Given the description of an element on the screen output the (x, y) to click on. 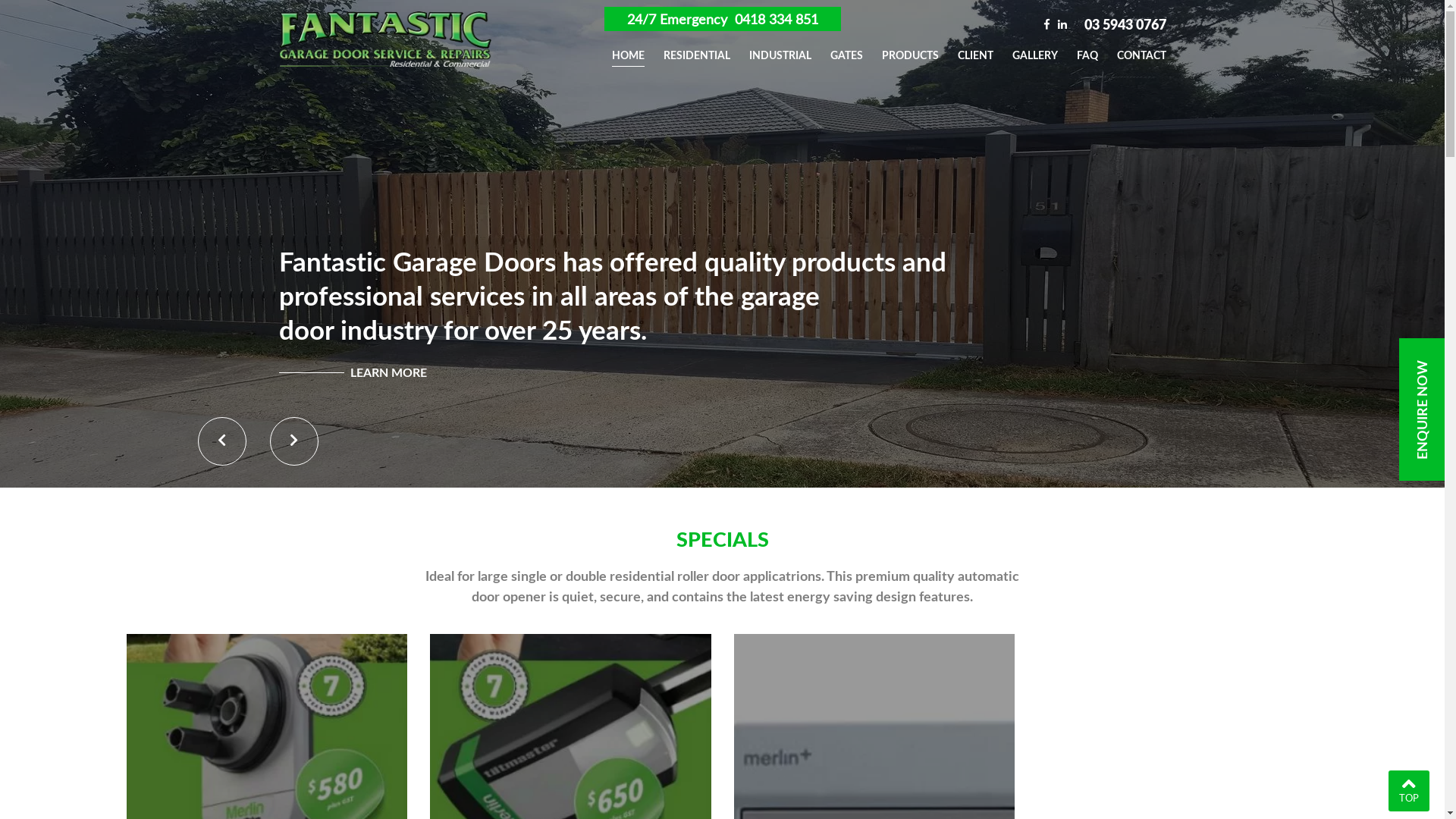
HOME Element type: text (627, 51)
PRODUCTS Element type: text (909, 51)
Linkedin Element type: hover (1061, 22)
GATES Element type: text (845, 51)
Fantastic Garage Doors Element type: hover (385, 38)
Next Element type: hover (293, 441)
Facebook Element type: hover (1045, 22)
INDUSTRIAL Element type: text (780, 51)
GALLERY Element type: text (1034, 51)
03 5943 0767 Element type: text (1125, 23)
LEARN MORE Element type: text (352, 371)
24/7 Emergency 0418 334 851 Element type: text (721, 18)
CLIENT Element type: text (974, 51)
RESIDENTIAL Element type: text (695, 51)
CONTACT Element type: text (1140, 51)
Previous Element type: hover (221, 441)
Fantastic Garage Doors Element type: hover (385, 36)
FAQ Element type: text (1087, 51)
